Given the description of an element on the screen output the (x, y) to click on. 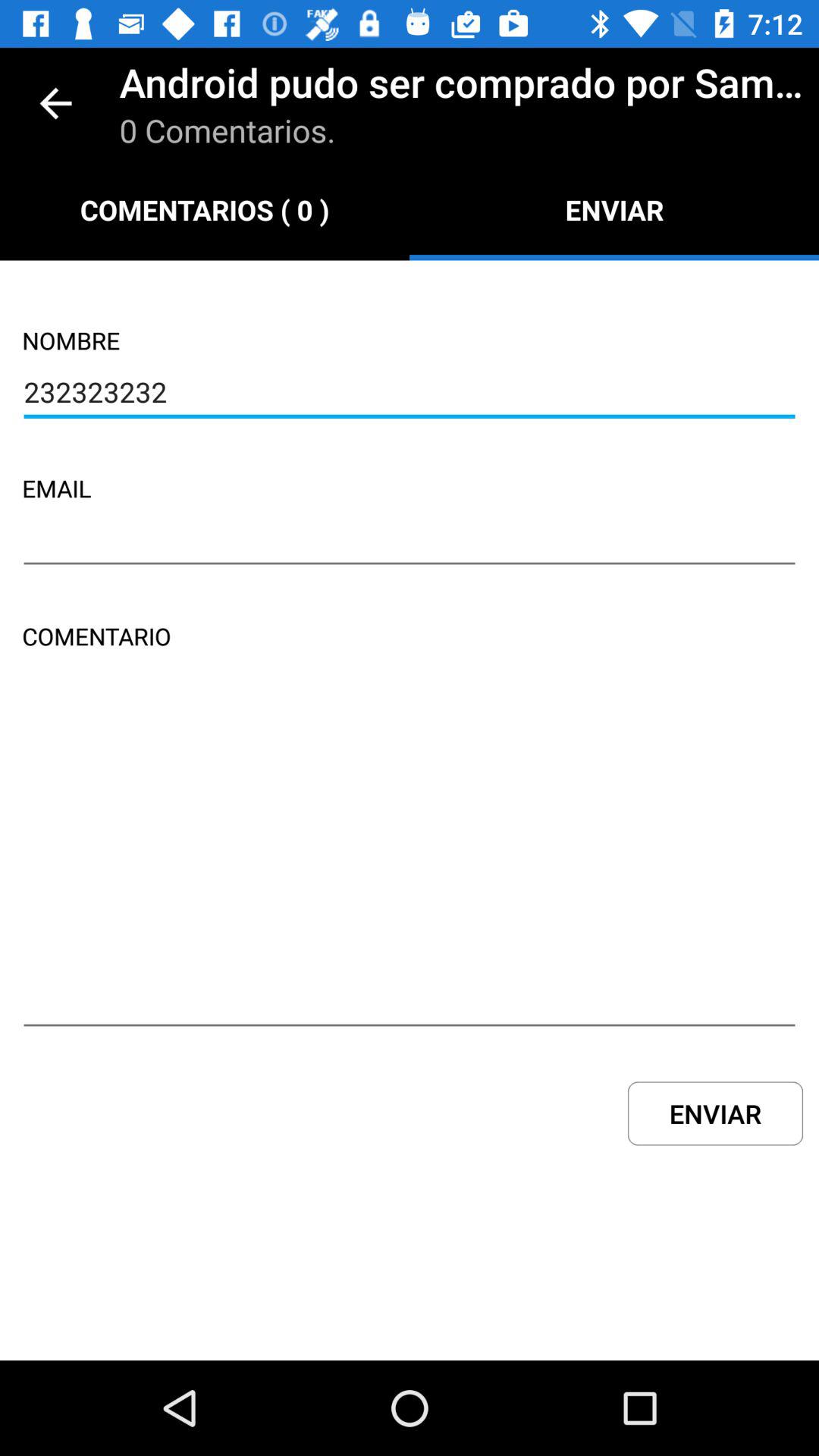
open the item below comentario icon (409, 862)
